Given the description of an element on the screen output the (x, y) to click on. 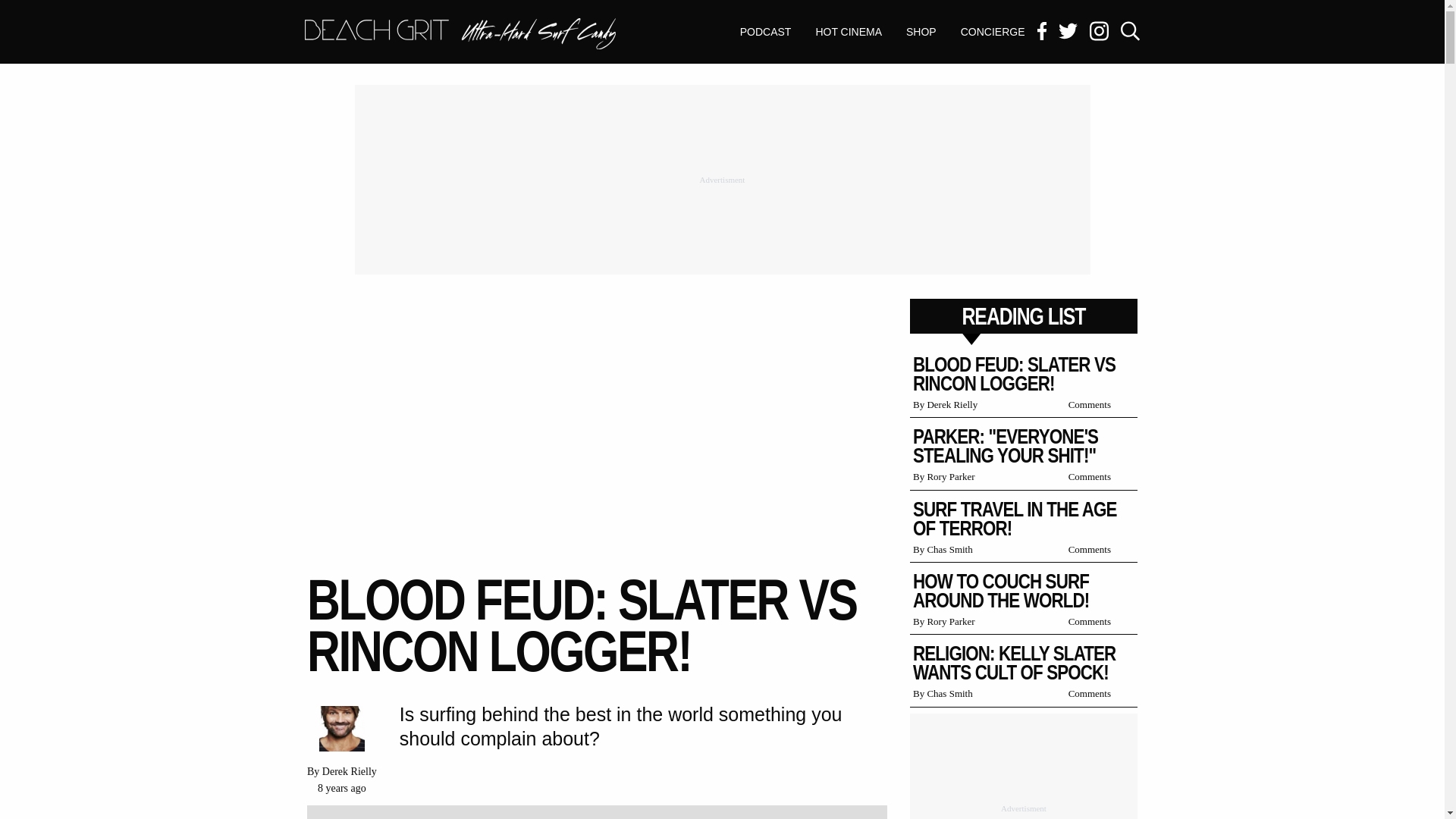
Derek Rielly (349, 771)
HOT CINEMA (848, 31)
BG-LOGO (459, 34)
SHOP (459, 33)
CONCIERGE (921, 31)
PODCAST (992, 31)
